Given the description of an element on the screen output the (x, y) to click on. 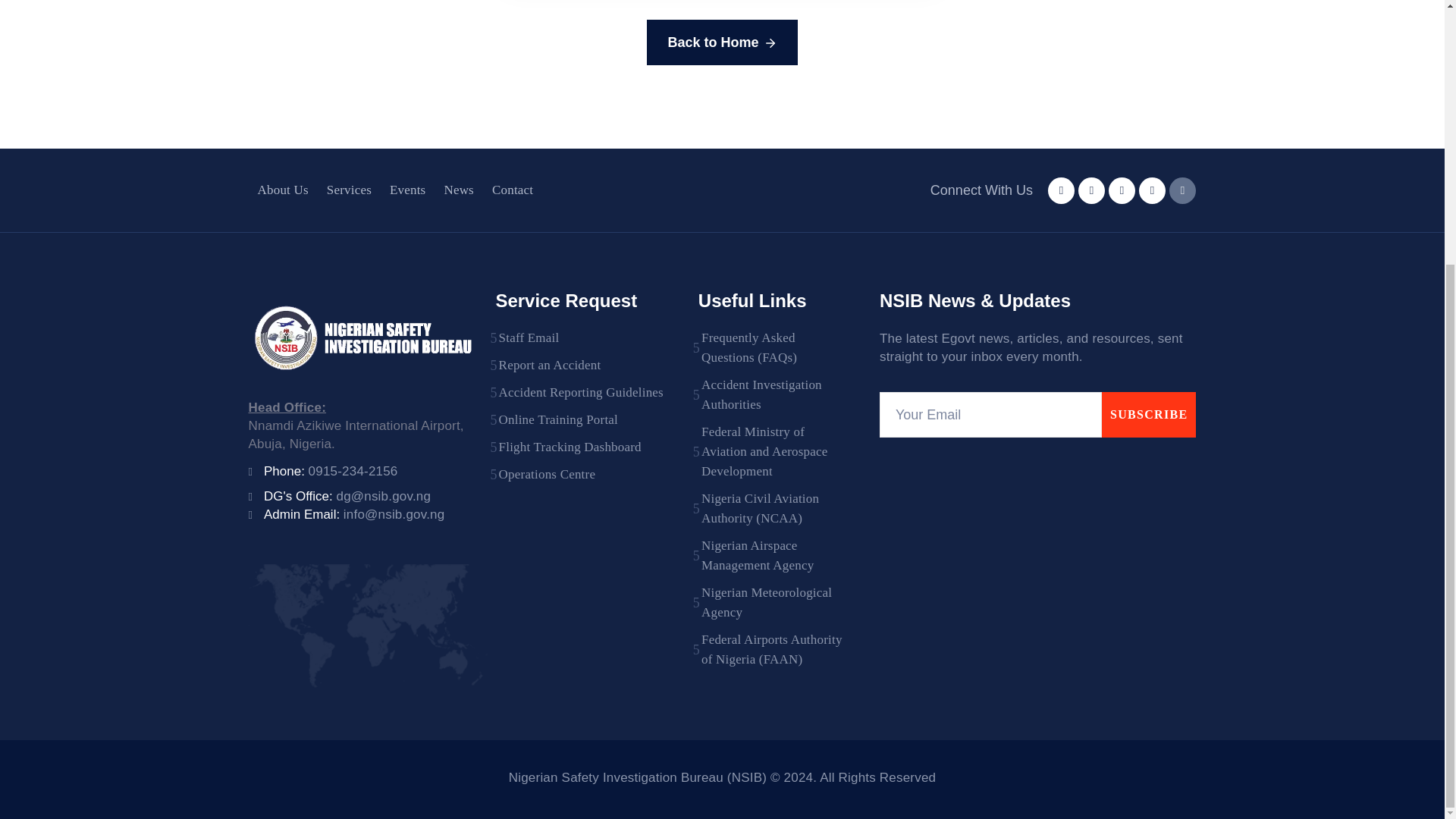
Subscribe (1149, 414)
